Given the description of an element on the screen output the (x, y) to click on. 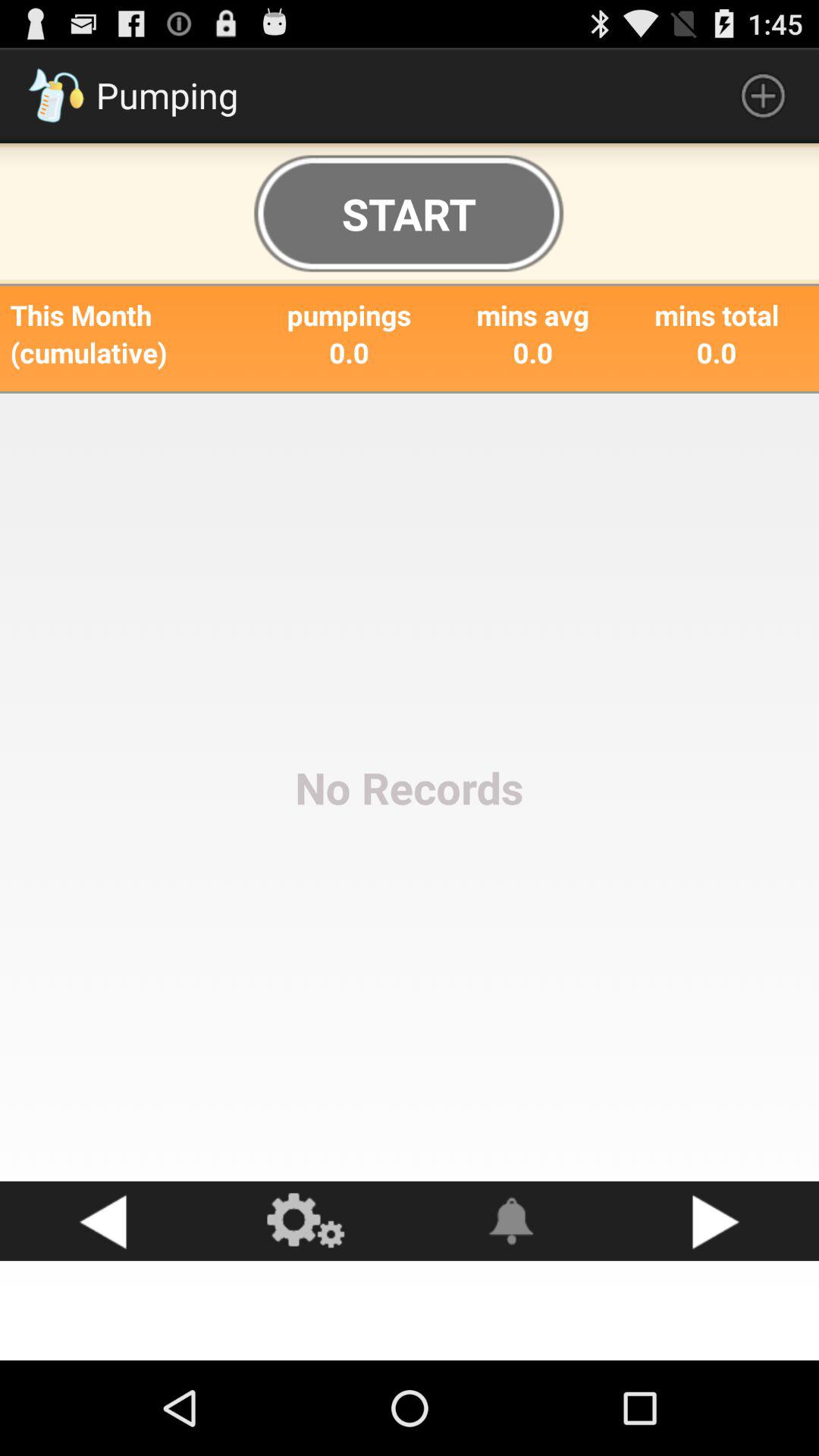
turn on the item at the bottom right corner (716, 1220)
